Given the description of an element on the screen output the (x, y) to click on. 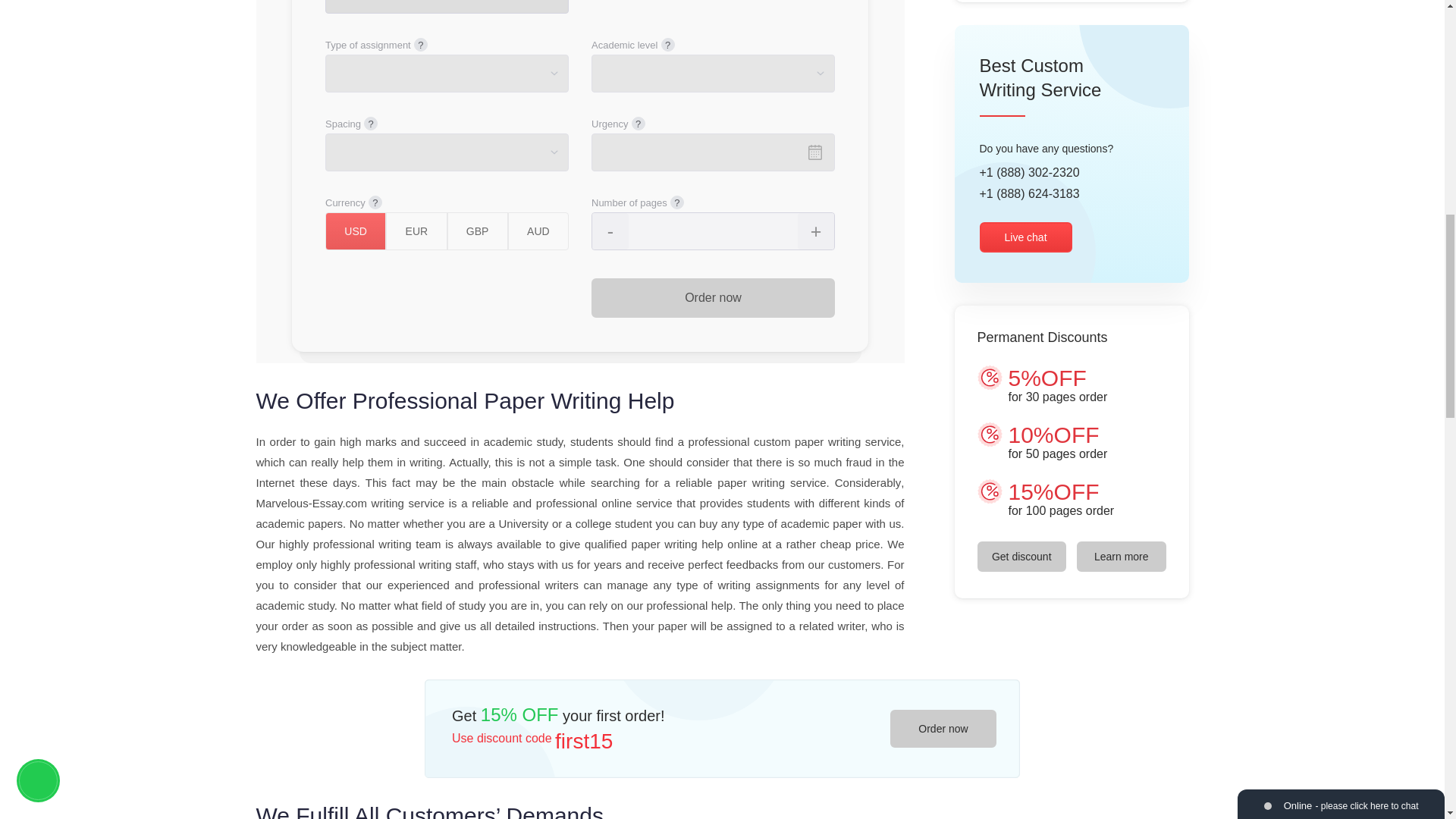
- (610, 230)
EUR (415, 231)
GBP (477, 231)
AUD (538, 231)
USD (354, 231)
Order now (712, 297)
